Given the description of an element on the screen output the (x, y) to click on. 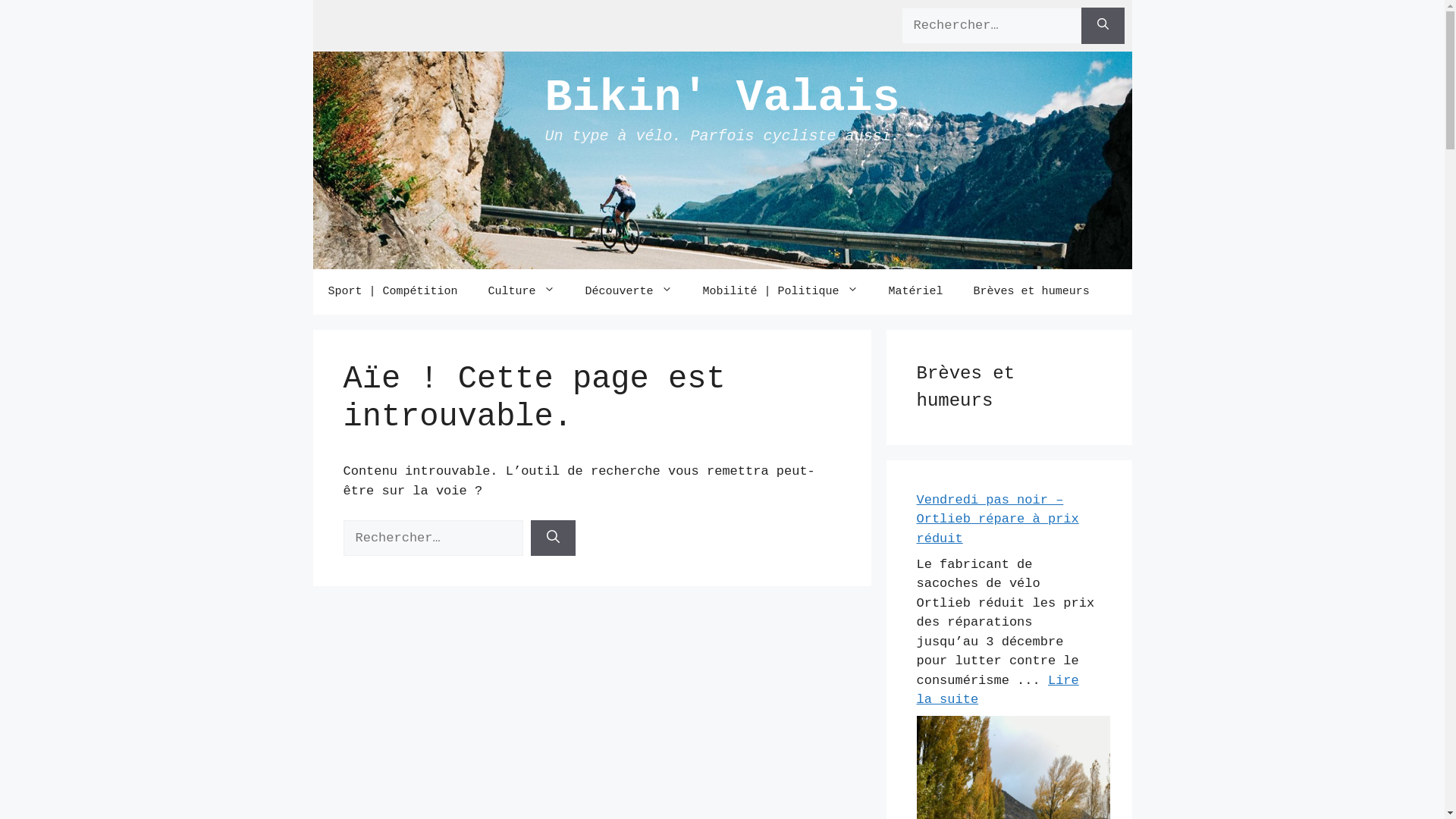
Culture Element type: text (521, 290)
Lire la suite Element type: text (997, 690)
Bikin' Valais Element type: text (721, 96)
